Given the description of an element on the screen output the (x, y) to click on. 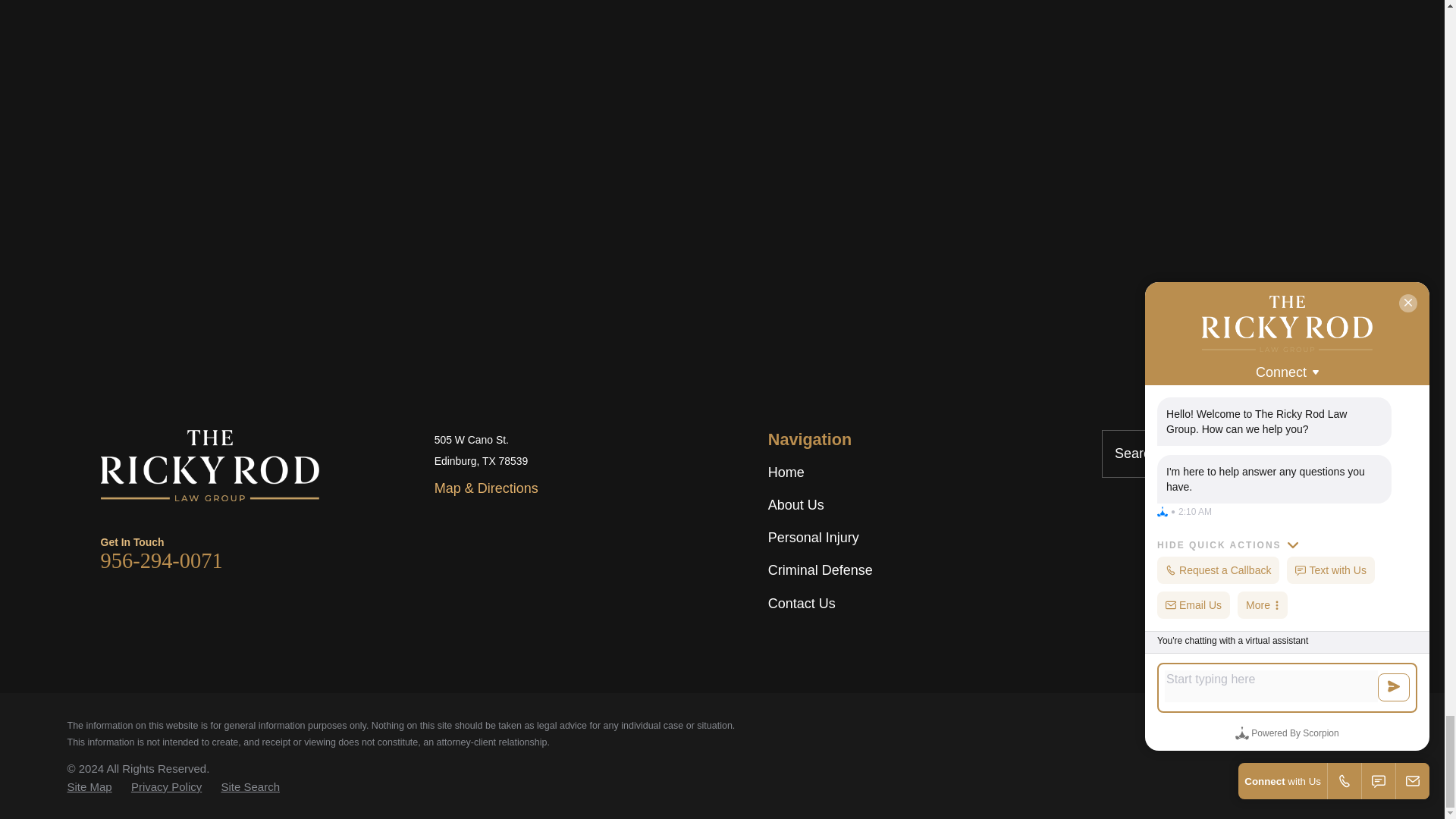
Home (209, 465)
